Given the description of an element on the screen output the (x, y) to click on. 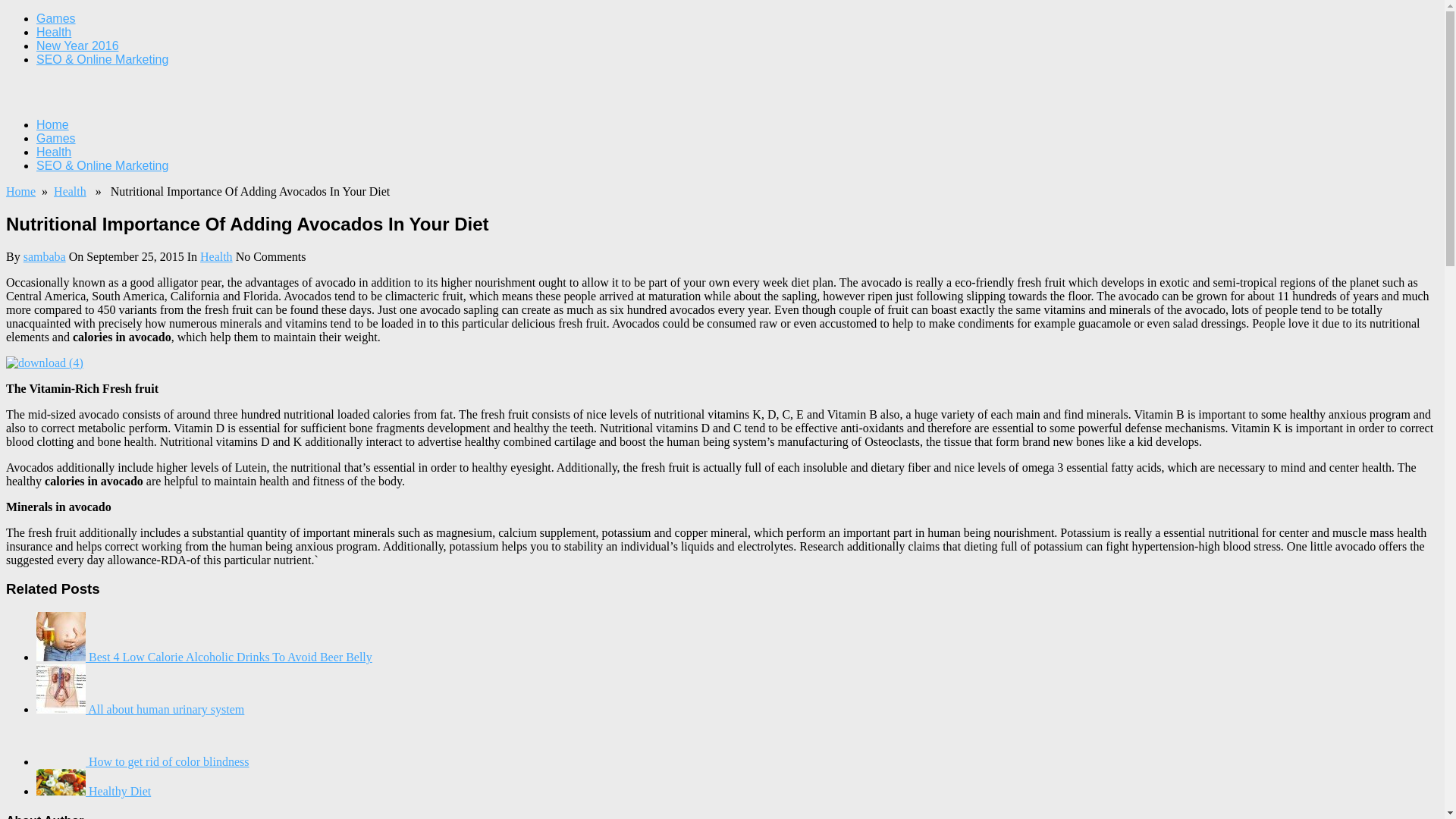
New Year 2016 (77, 45)
Best 4 Low Calorie Alcoholic Drinks To Avoid Beer Belly (204, 656)
Healthy Diet (93, 790)
All about human urinary system (140, 708)
How to get rid of color blindness (142, 761)
Games (55, 137)
Health (53, 31)
Posts by sambaba (44, 256)
All about human urinary system (140, 708)
Home (52, 124)
sambaba (44, 256)
Games (55, 18)
Health (69, 191)
Health (53, 151)
Health (216, 256)
